Given the description of an element on the screen output the (x, y) to click on. 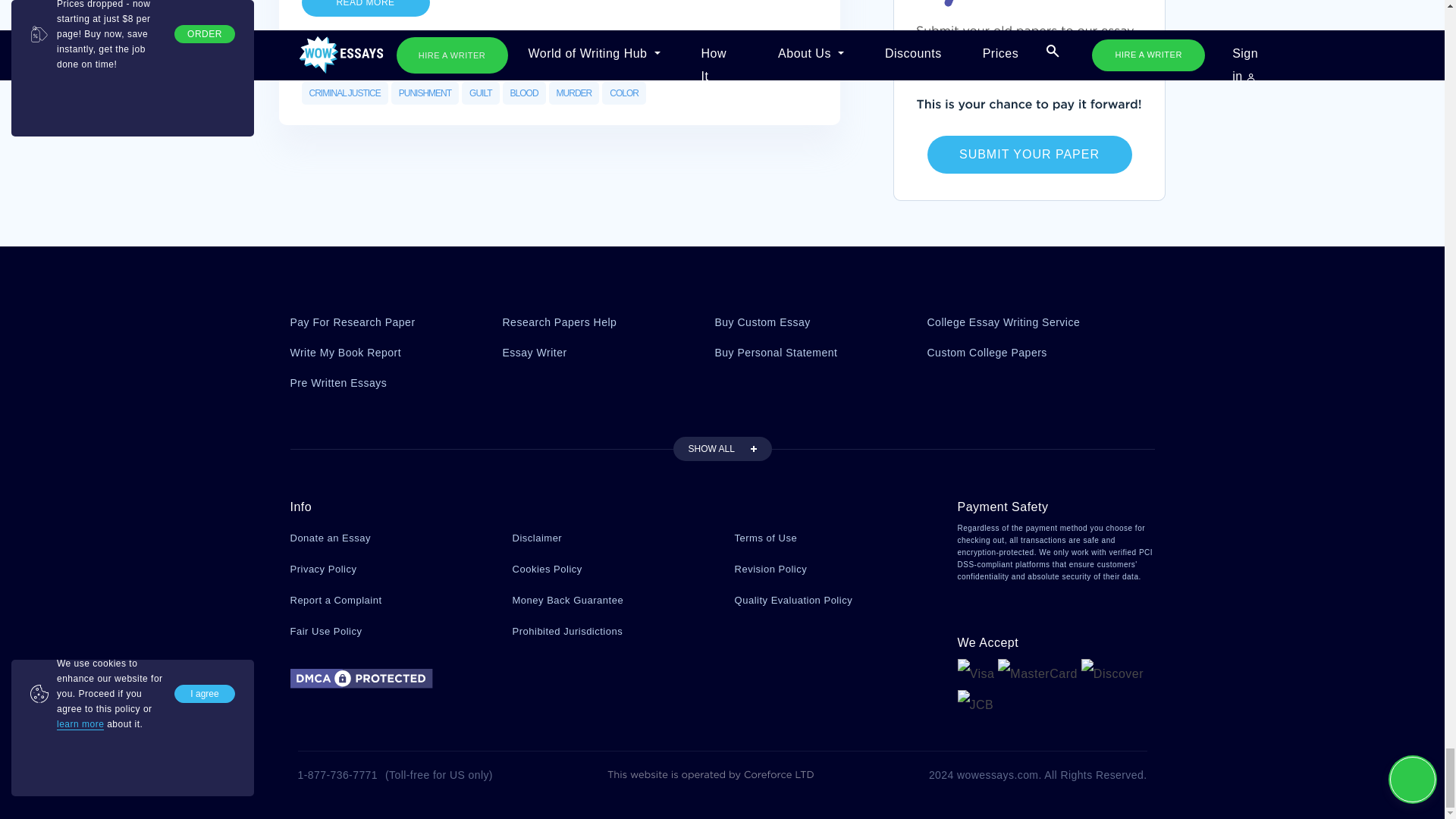
DMCA.com Protection Status (360, 677)
